Given the description of an element on the screen output the (x, y) to click on. 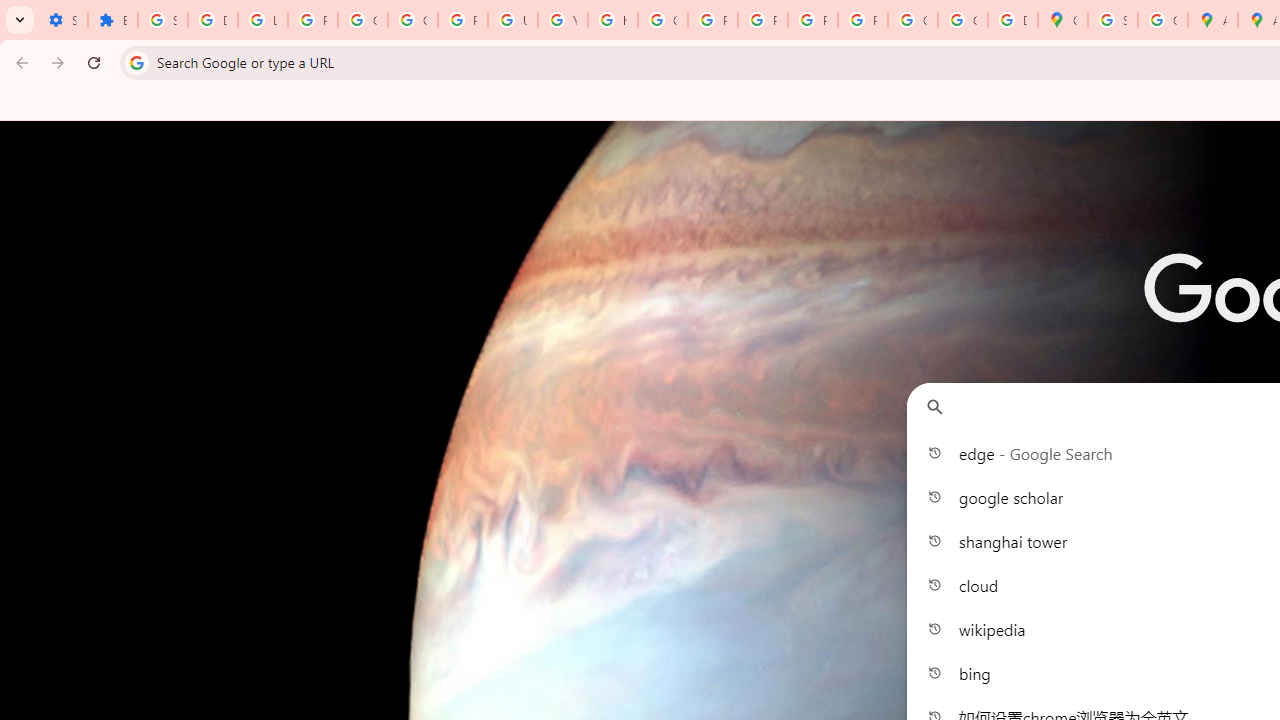
YouTube (562, 20)
https://scholar.google.com/ (612, 20)
Delete photos & videos - Computer - Google Photos Help (213, 20)
Remove (1263, 466)
Chrome Web Store (1223, 504)
